Given the description of an element on the screen output the (x, y) to click on. 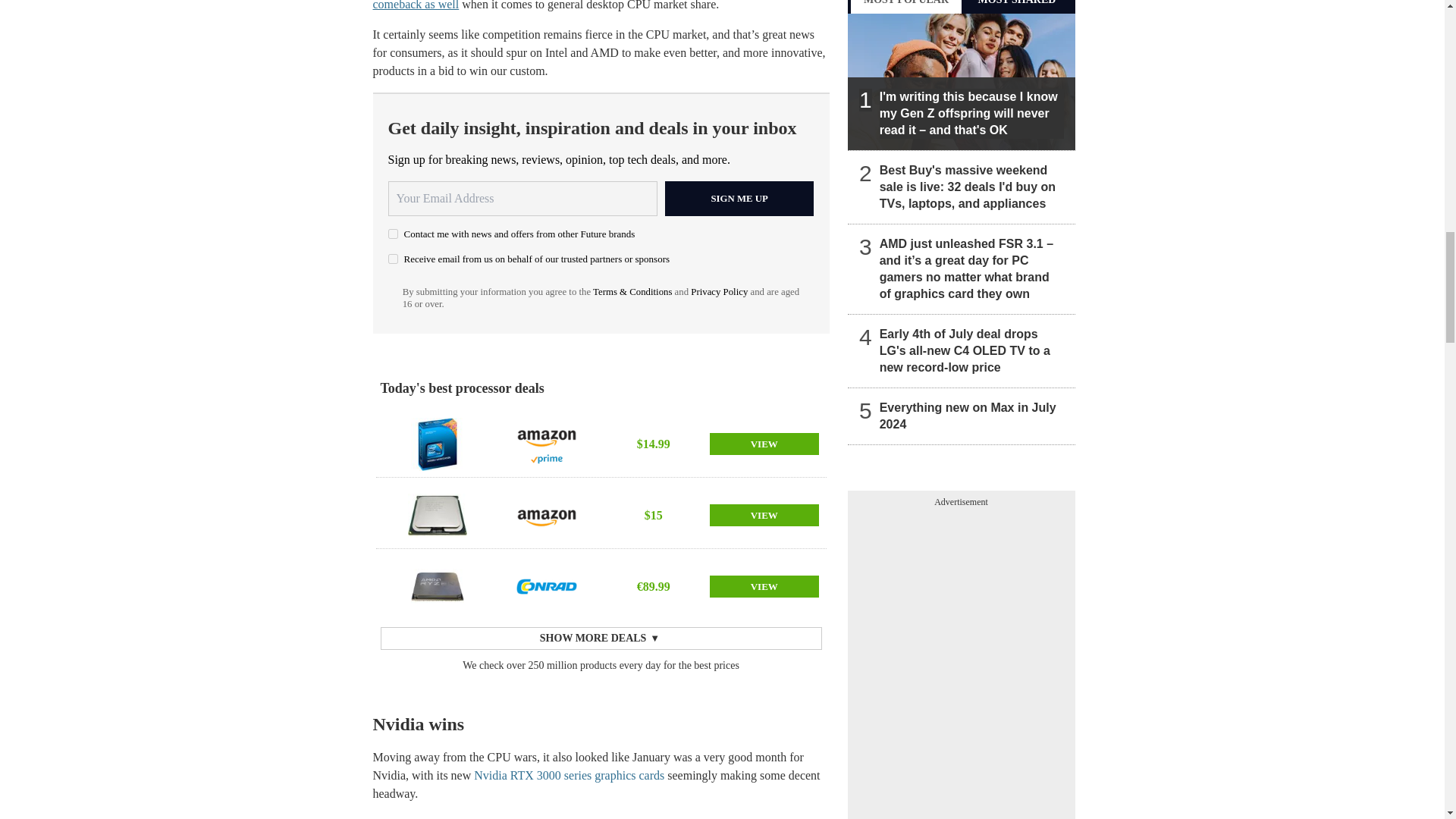
Sign me up (739, 198)
Prime (546, 458)
on (392, 258)
Amazon (546, 435)
AMD Ryzen 3 4100 8 x 3.8 GHz... (437, 586)
Amazon (546, 515)
on (392, 234)
Intel Xeon X3430 Quad Core... (437, 443)
Conrad Electronic (546, 586)
1.6GHz Intel Xeon Quad-Core... (437, 515)
